Given the description of an element on the screen output the (x, y) to click on. 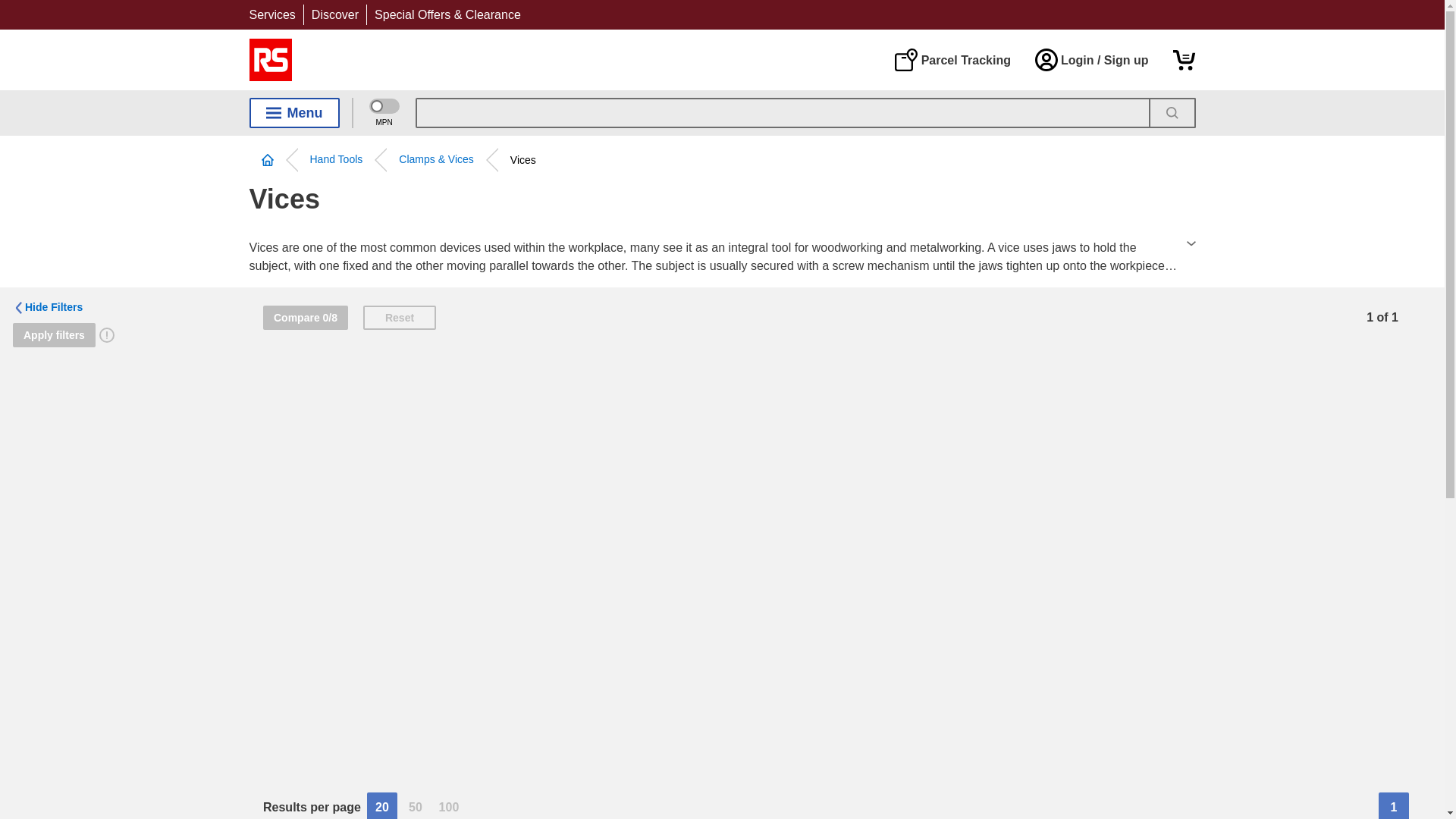
Services (271, 14)
Discover (334, 14)
Menu (293, 112)
Parcel Tracking (951, 59)
